Given the description of an element on the screen output the (x, y) to click on. 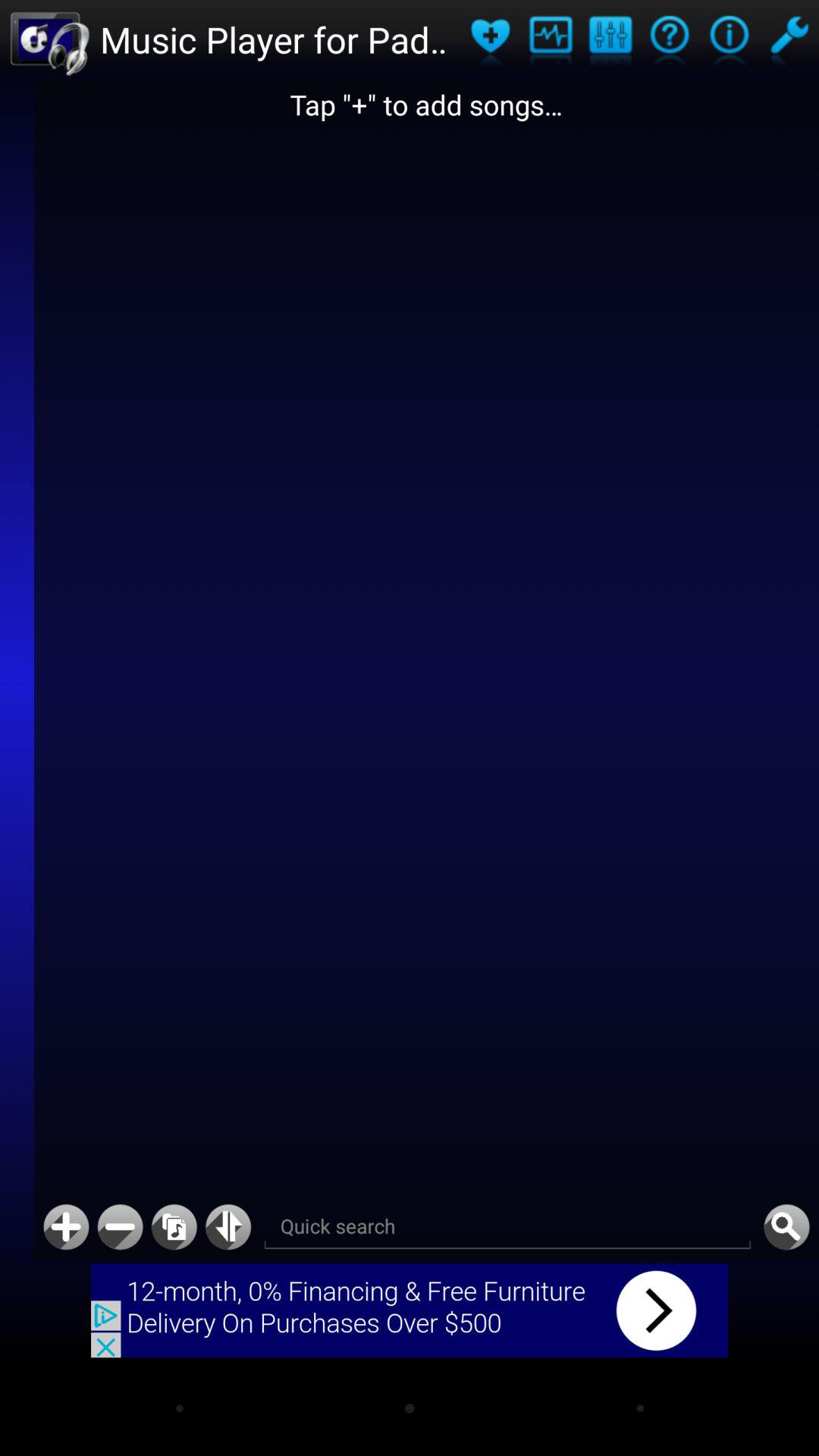
search bar (507, 1226)
